Given the description of an element on the screen output the (x, y) to click on. 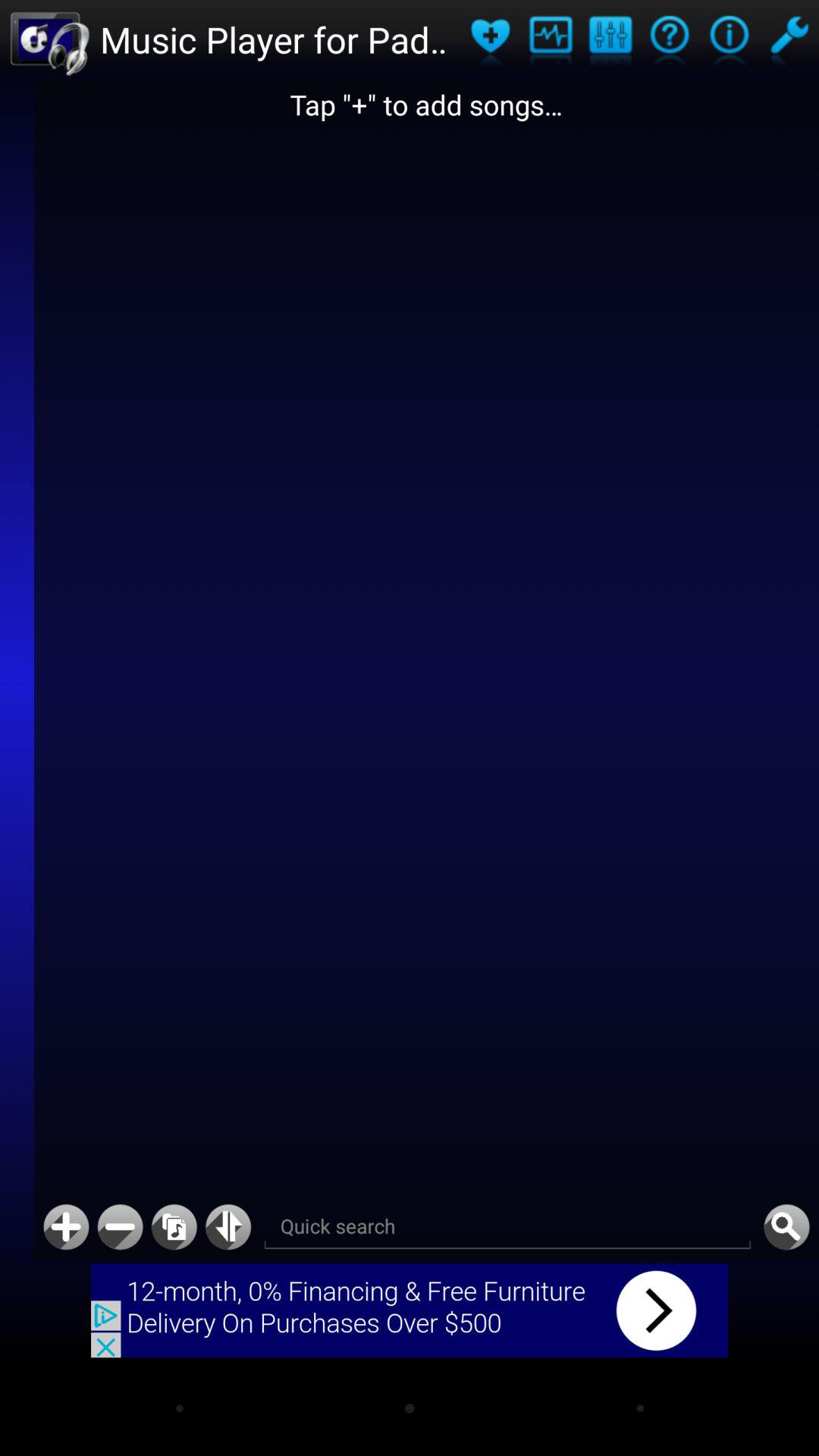
search bar (507, 1226)
